Given the description of an element on the screen output the (x, y) to click on. 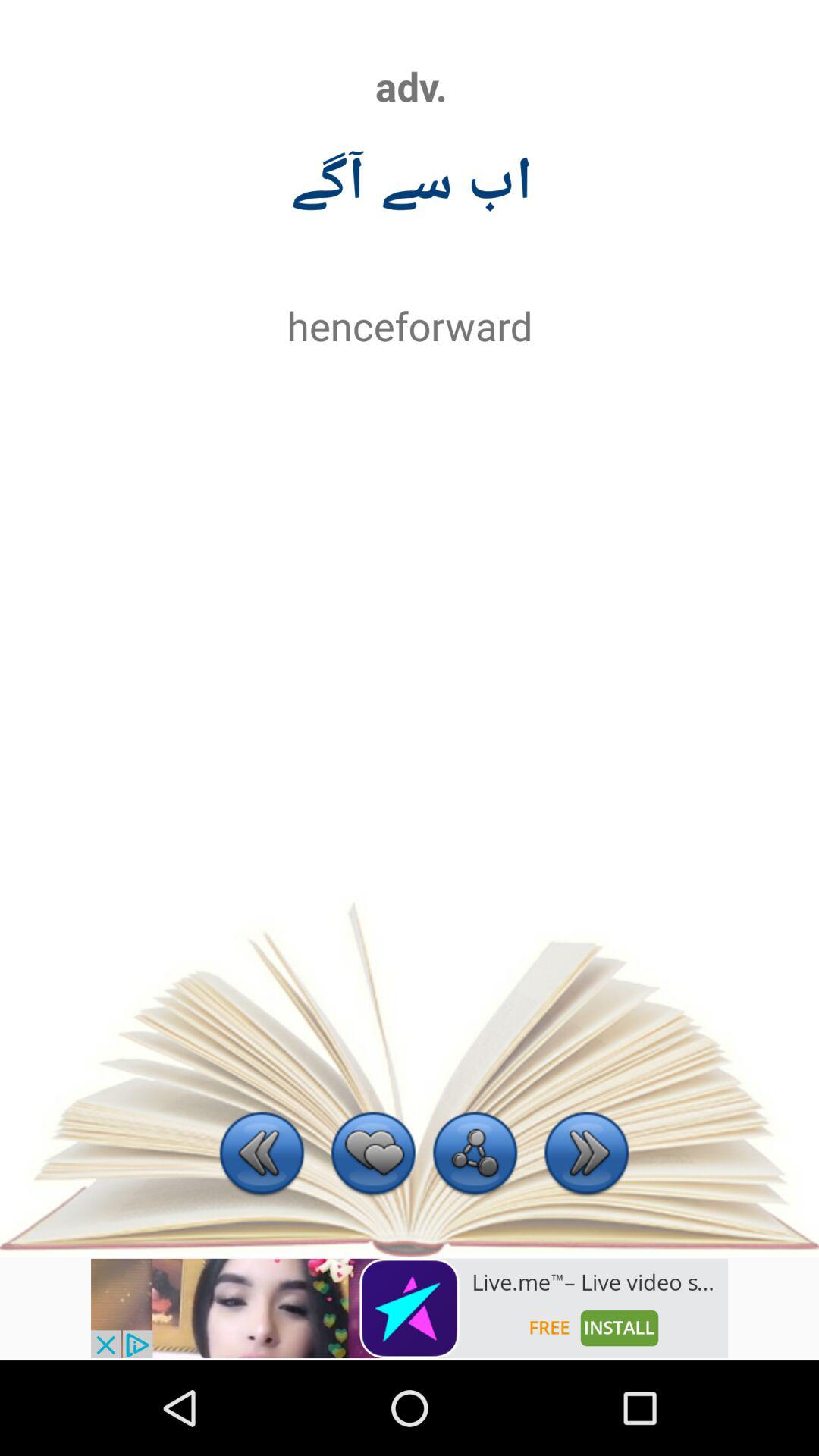
go forward (586, 1155)
